Given the description of an element on the screen output the (x, y) to click on. 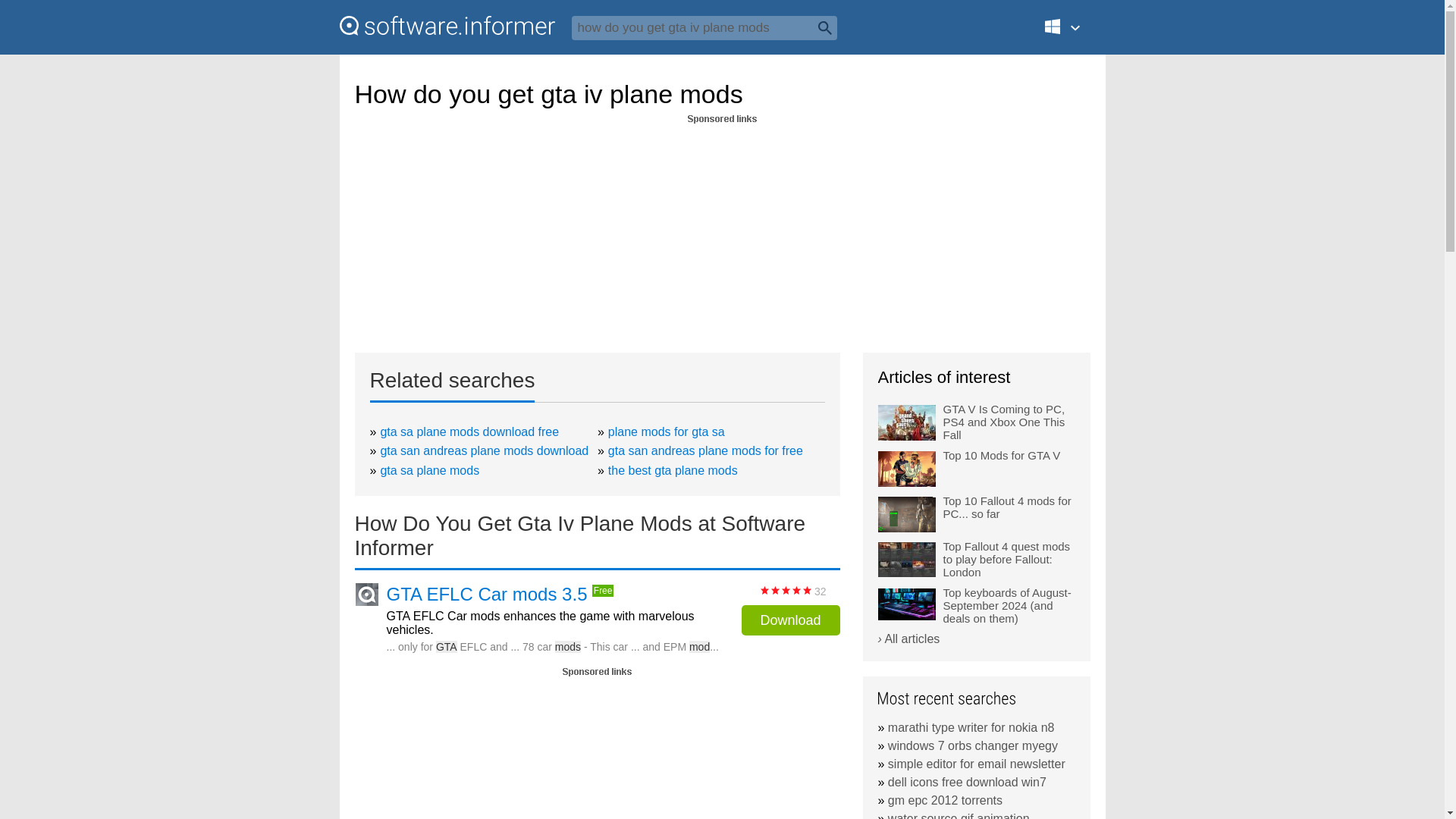
how do you get gta iv plane mods (704, 27)
gta san andreas plane mods for free (705, 450)
gta sa plane mods (429, 470)
the best gta plane mods (673, 470)
Windows (1070, 33)
Software downloads and reviews (446, 25)
GTA EFLC Car mods 3.5 (487, 594)
plane mods for gta sa (666, 431)
